Given the description of an element on the screen output the (x, y) to click on. 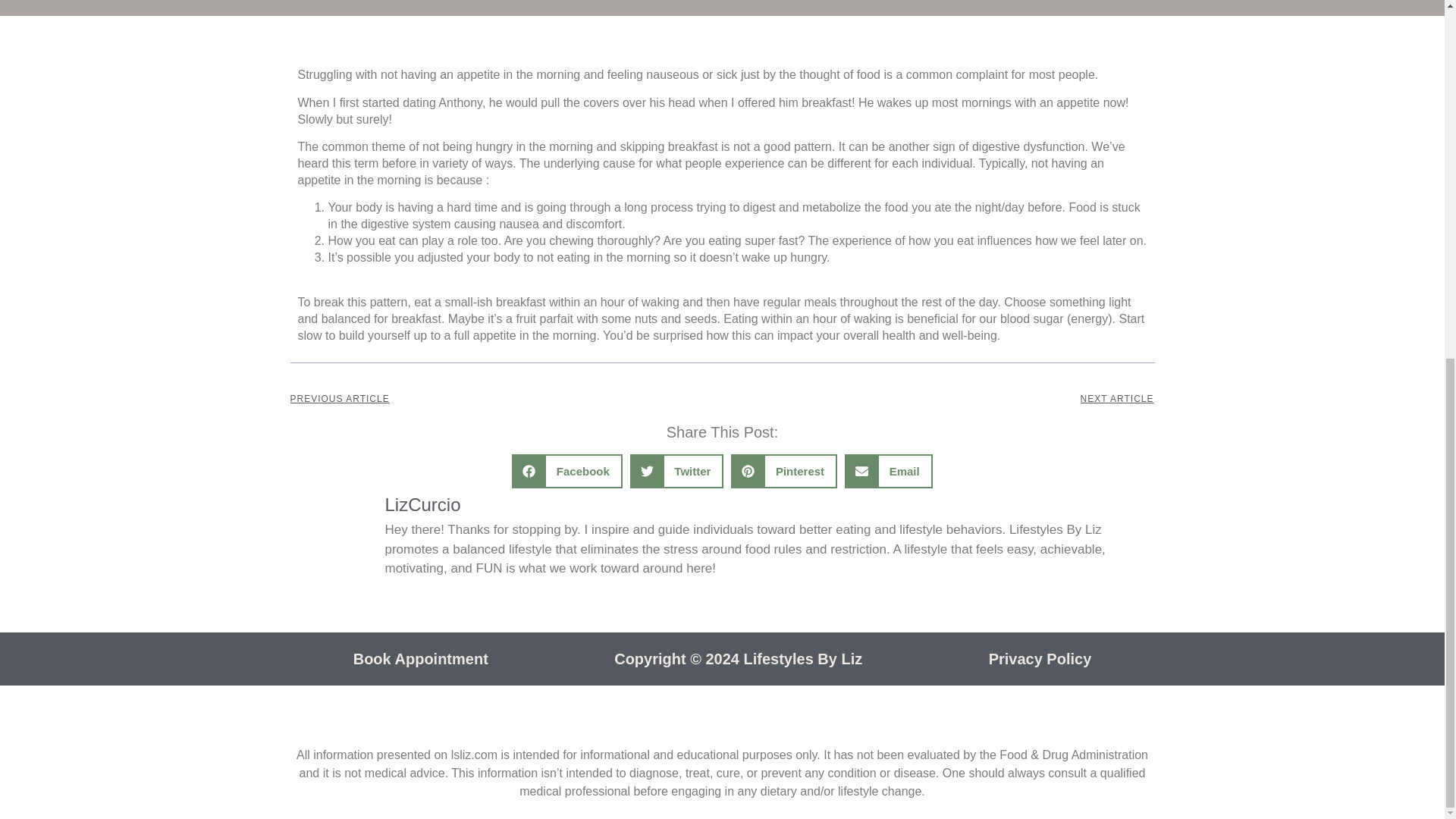
PREVIOUS ARTICLE (505, 398)
Privacy Policy (1040, 658)
Book Appointment (420, 658)
NEXT ARTICLE (938, 398)
